Given the description of an element on the screen output the (x, y) to click on. 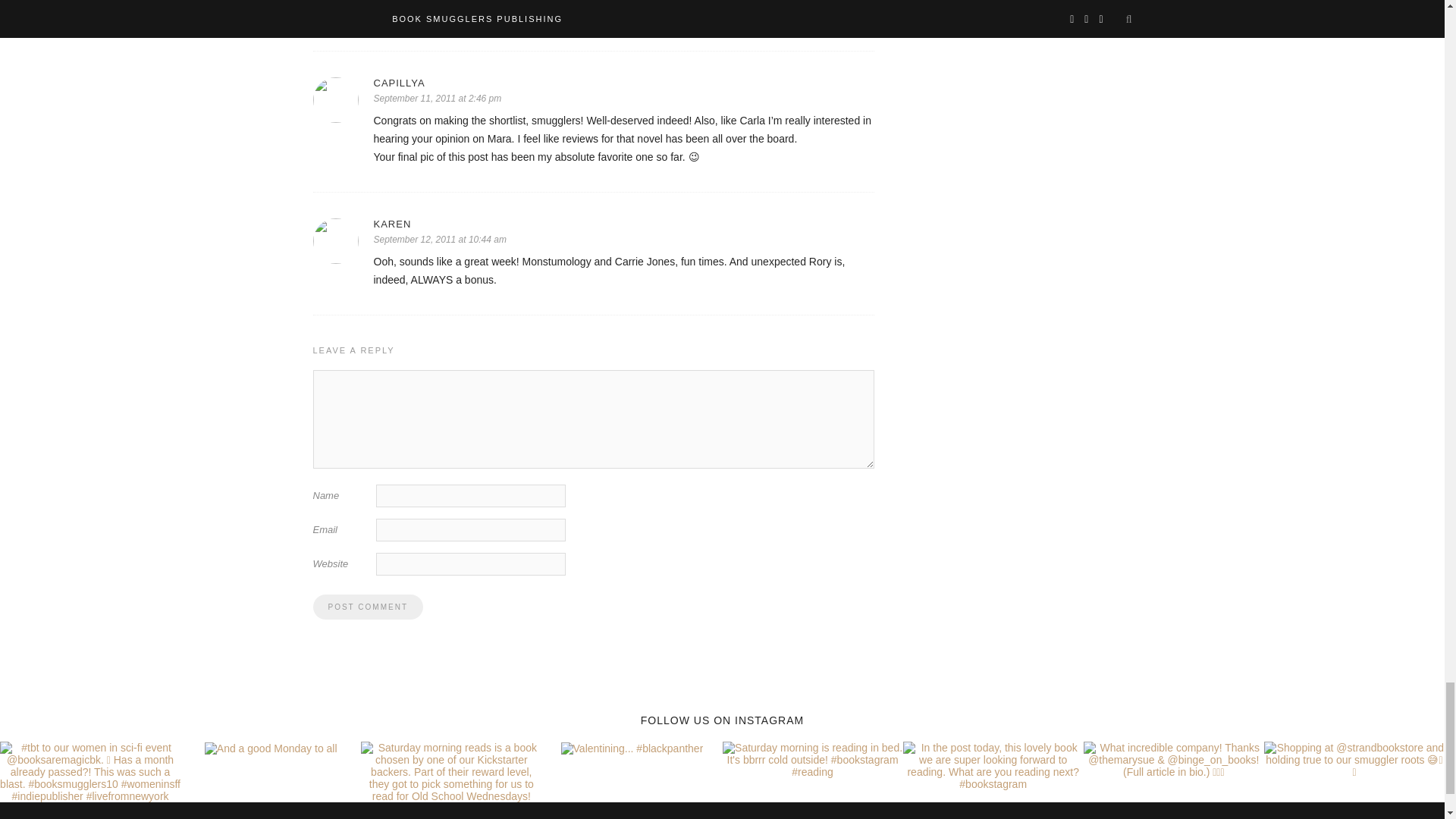
And a good Monday to all (271, 777)
Post Comment (367, 636)
